Given the description of an element on the screen output the (x, y) to click on. 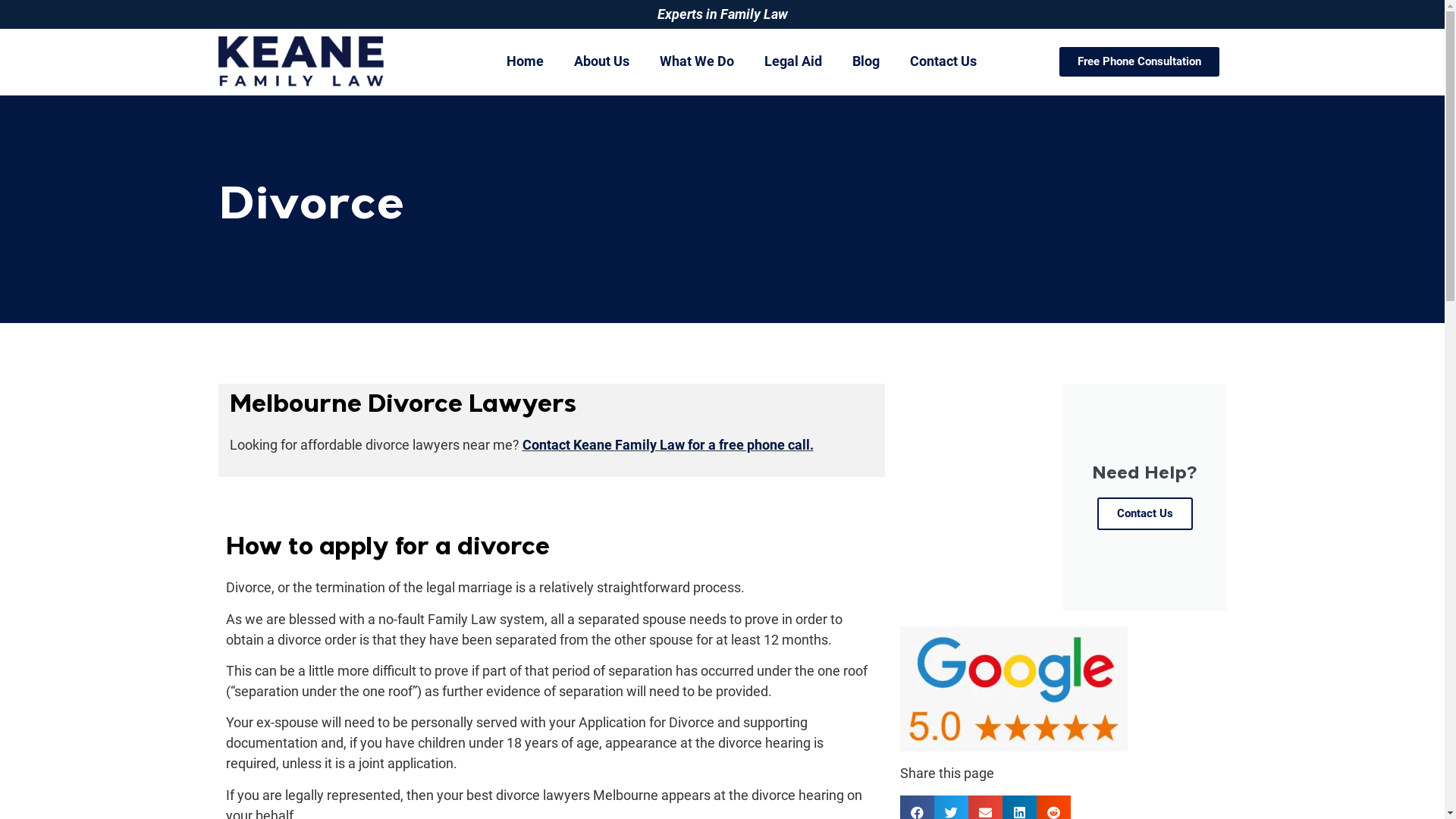
Free Phone Consultation Element type: text (1139, 61)
Experts in Family Law Element type: text (721, 13)
Need Help?
Contact Us Element type: text (1063, 497)
Legal Aid Element type: text (793, 60)
Home Element type: text (524, 60)
Contact Us Element type: text (942, 60)
About Us Element type: text (601, 60)
What We Do Element type: text (696, 60)
Blog Element type: text (865, 60)
Contact Keane Family Law for a free phone call. Element type: text (666, 444)
